Given the description of an element on the screen output the (x, y) to click on. 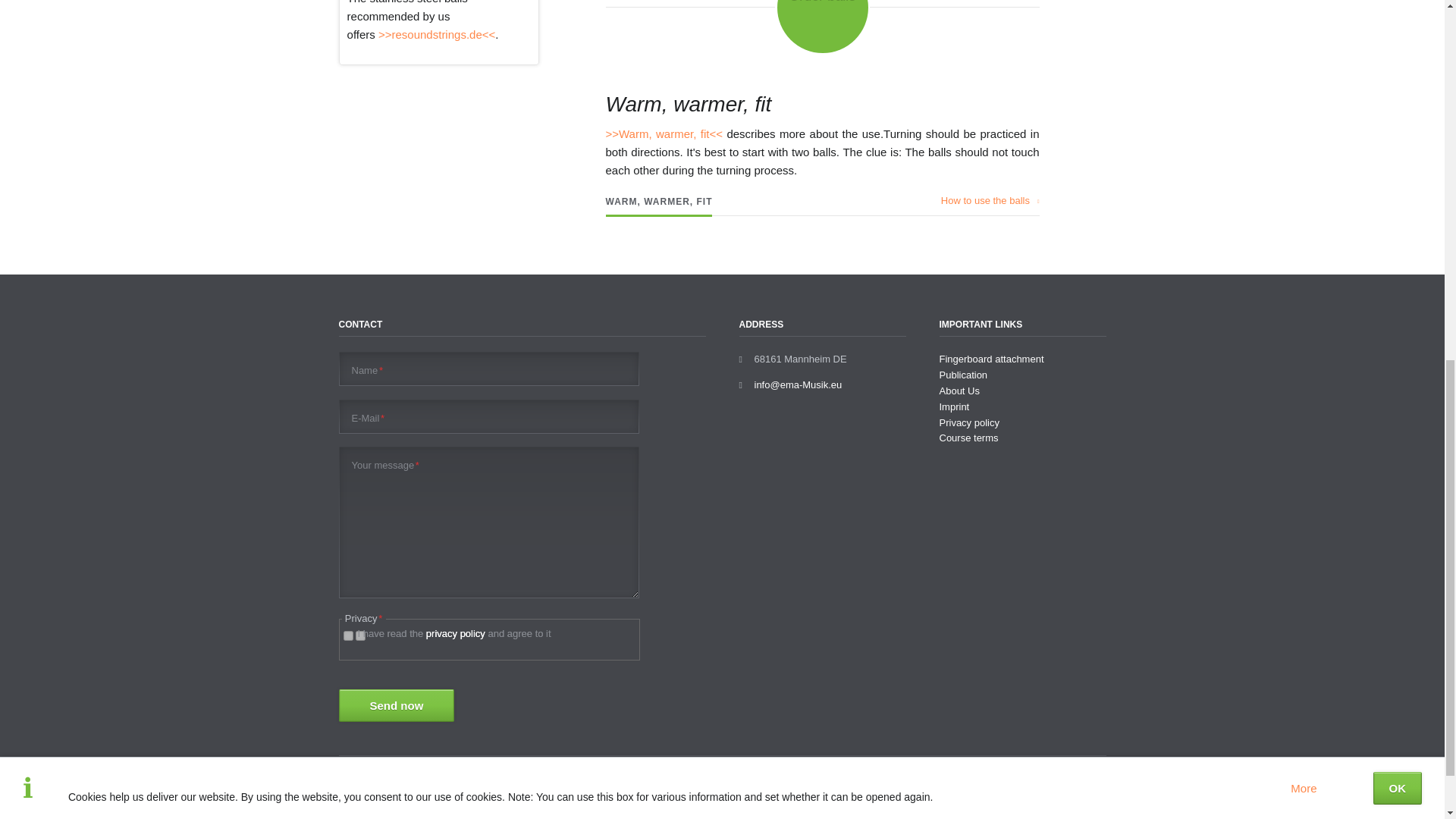
How to use the balls (989, 201)
More (1303, 100)
OK (1397, 100)
Order balls (822, 26)
privacy policy (455, 633)
akzeptiert (360, 635)
akzeptiert (347, 635)
